Given the description of an element on the screen output the (x, y) to click on. 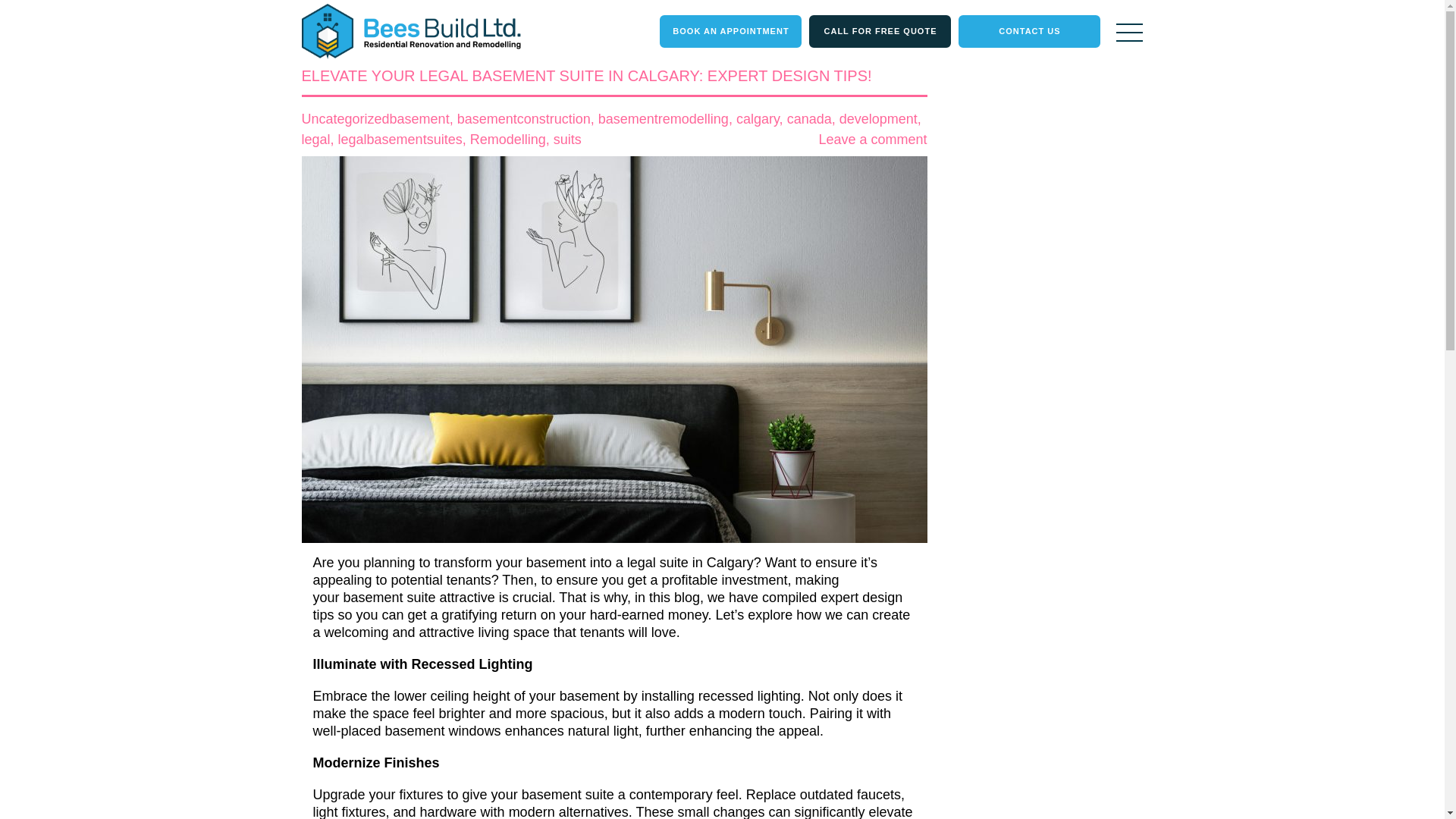
calgary (757, 118)
basement (419, 118)
CALL FOR FREE QUOTE (879, 31)
suits (566, 139)
basement suite (389, 597)
basementconstruction (524, 118)
legalbasementsuites (400, 139)
Remodelling (508, 139)
development (878, 118)
canada (809, 118)
legal (315, 139)
basementremodelling (663, 118)
CONTACT US (1029, 31)
